Given the description of an element on the screen output the (x, y) to click on. 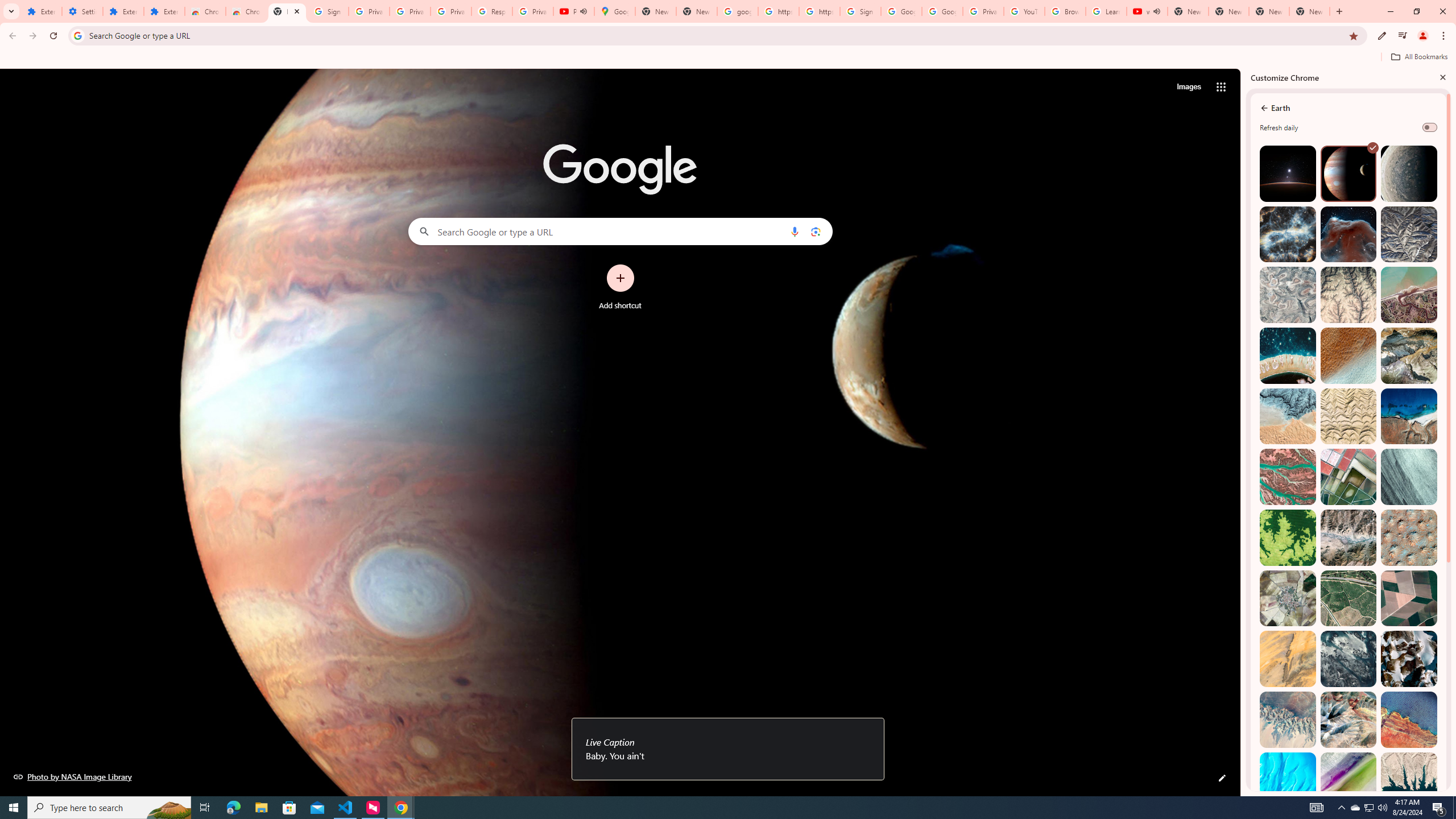
Kerman, Iran (1348, 416)
New Tab (287, 11)
Al Jabal al Akhdar, Libya (1408, 416)
https://scholar.google.com/ (777, 11)
Extensions (163, 11)
The Tuamotu and Gambier Islands, French Polynesia (1287, 355)
Photo by NASA Image Library (1348, 233)
https://scholar.google.com/ (818, 11)
